Given the description of an element on the screen output the (x, y) to click on. 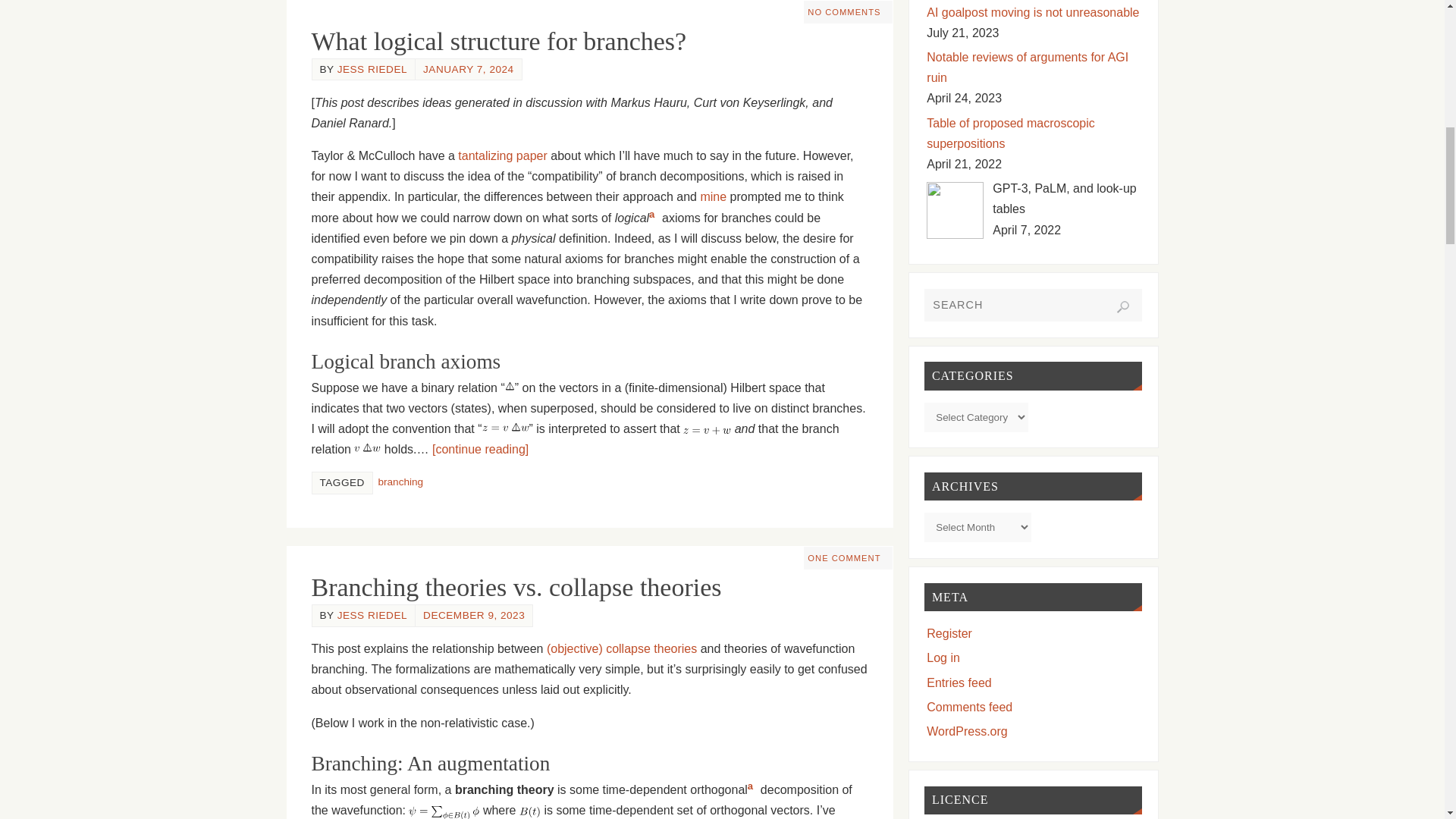
mine (713, 196)
JESS RIEDEL (372, 69)
ONE COMMENT (844, 557)
Permalink to Branching theories vs. collapse theories (515, 587)
Rendered by QuickLaTeX.com (366, 448)
Permalink to What logical structure for branches? (498, 41)
Rendered by QuickLaTeX.com (510, 387)
NO COMMENTS (844, 11)
JESS RIEDEL (372, 614)
Rendered by QuickLaTeX.com (444, 812)
